Given the description of an element on the screen output the (x, y) to click on. 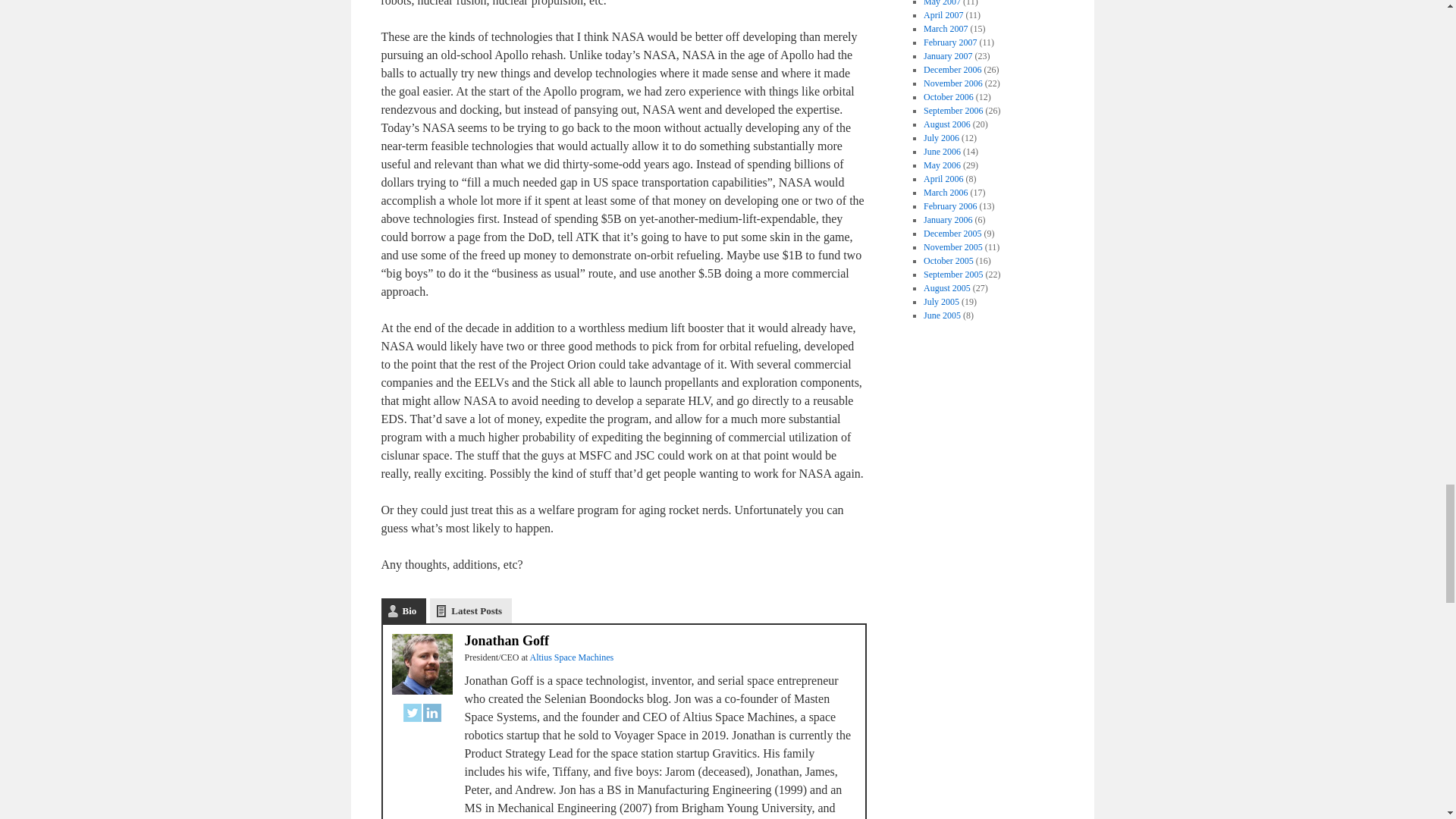
Latest Posts (470, 610)
Altius Space Machines (570, 656)
Bio (403, 610)
